Given the description of an element on the screen output the (x, y) to click on. 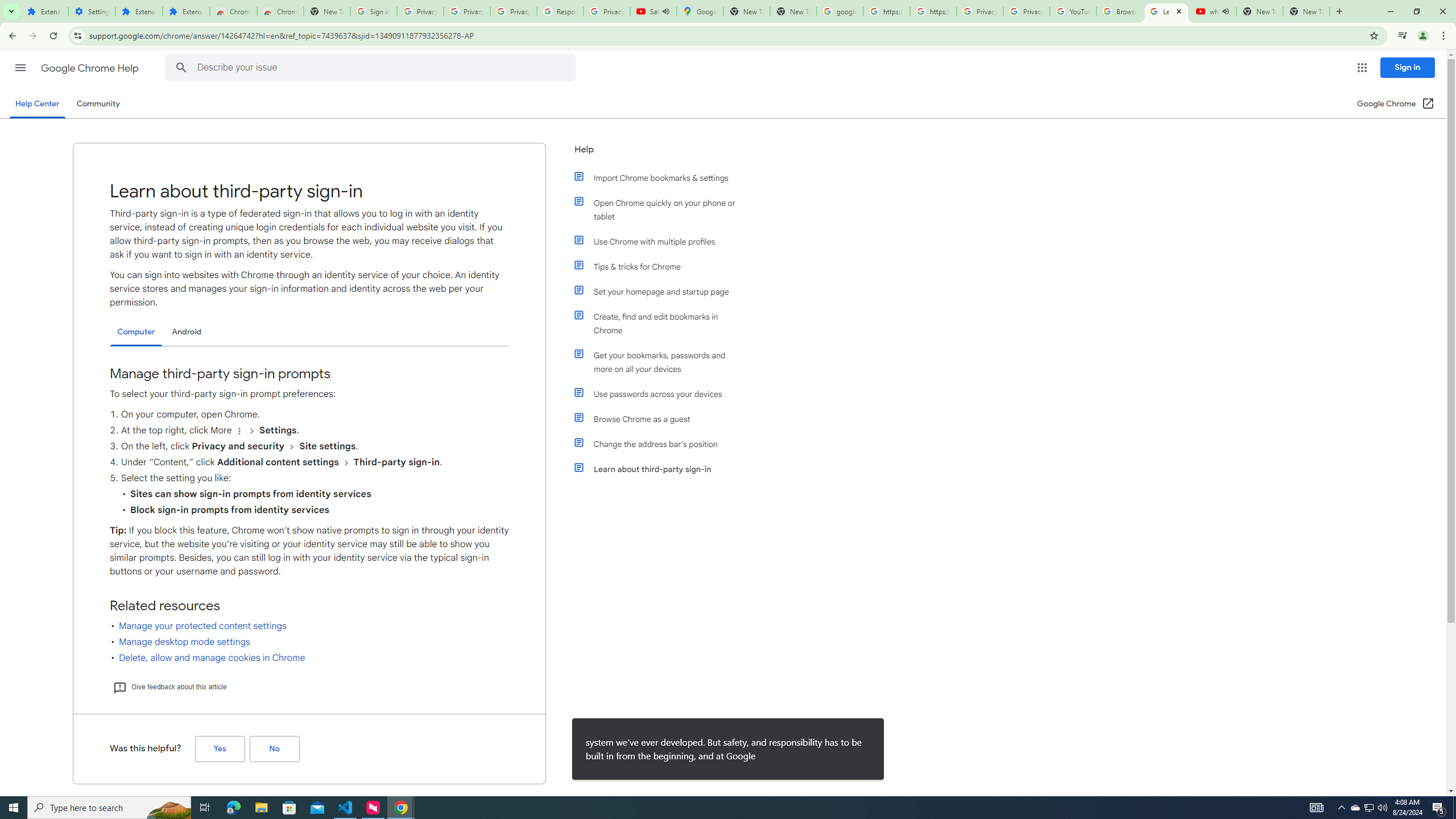
Community (97, 103)
Chrome Web Store (233, 11)
Organize (239, 430)
Set your homepage and startup page (661, 291)
Describe your issue (371, 67)
Give feedback about this article (169, 686)
Computer (136, 332)
New Tab (1306, 11)
Sign in - Google Accounts (373, 11)
